Given the description of an element on the screen output the (x, y) to click on. 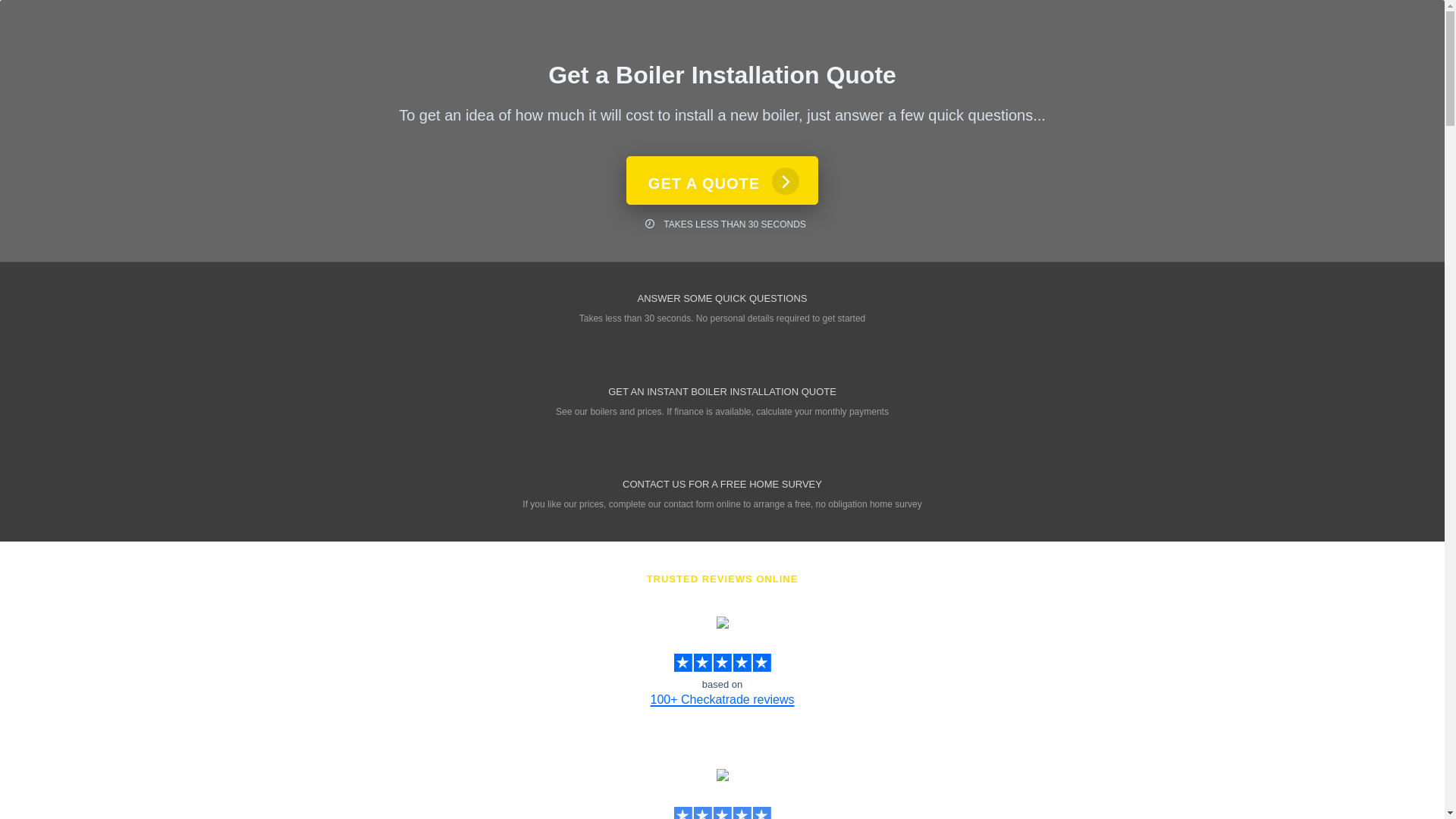
Star (721, 812)
Star (761, 662)
GET A QUOTEARROW RIGHT (722, 180)
Star (741, 662)
Star (702, 812)
Star (761, 812)
Star (702, 662)
Star (721, 662)
ARROW RIGHT (785, 180)
Star (681, 812)
Star (741, 812)
Star (681, 662)
